Given the description of an element on the screen output the (x, y) to click on. 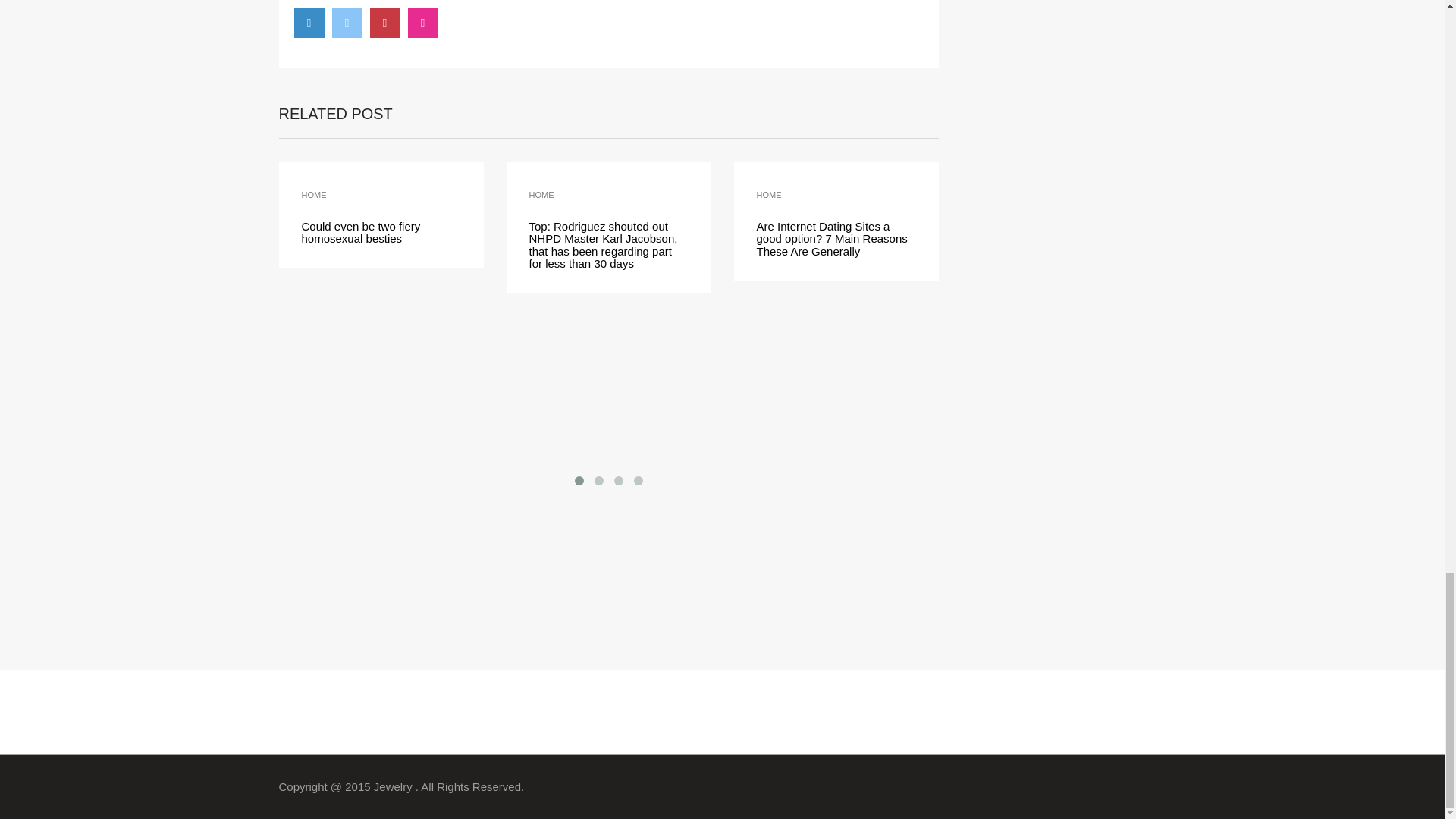
HOME (313, 194)
HOME (769, 194)
Could even be two fiery homosexual besties (360, 232)
HOME (541, 194)
